Given the description of an element on the screen output the (x, y) to click on. 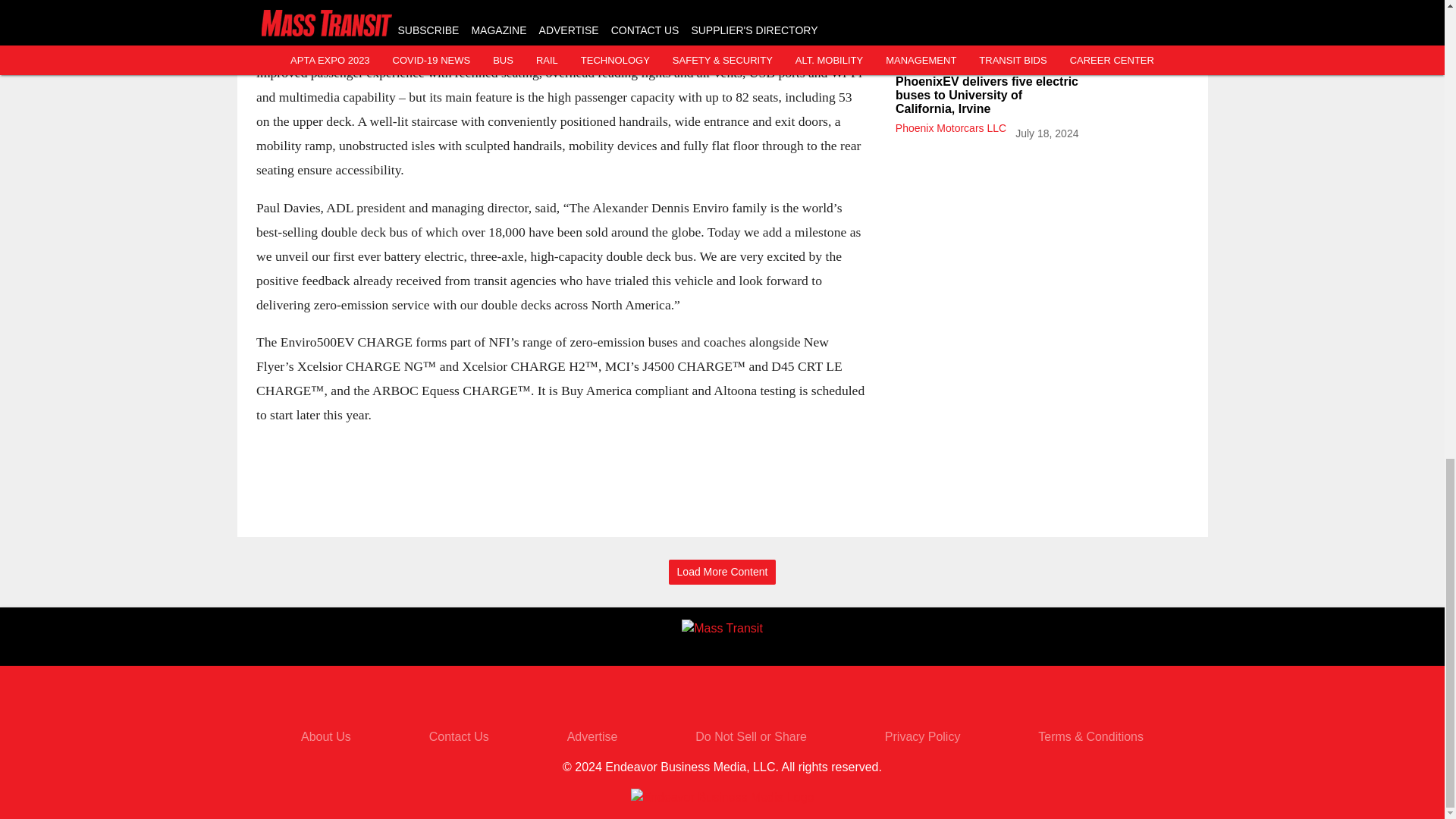
Load More Content (722, 571)
Phoenix Motorcars LLC (950, 128)
